Given the description of an element on the screen output the (x, y) to click on. 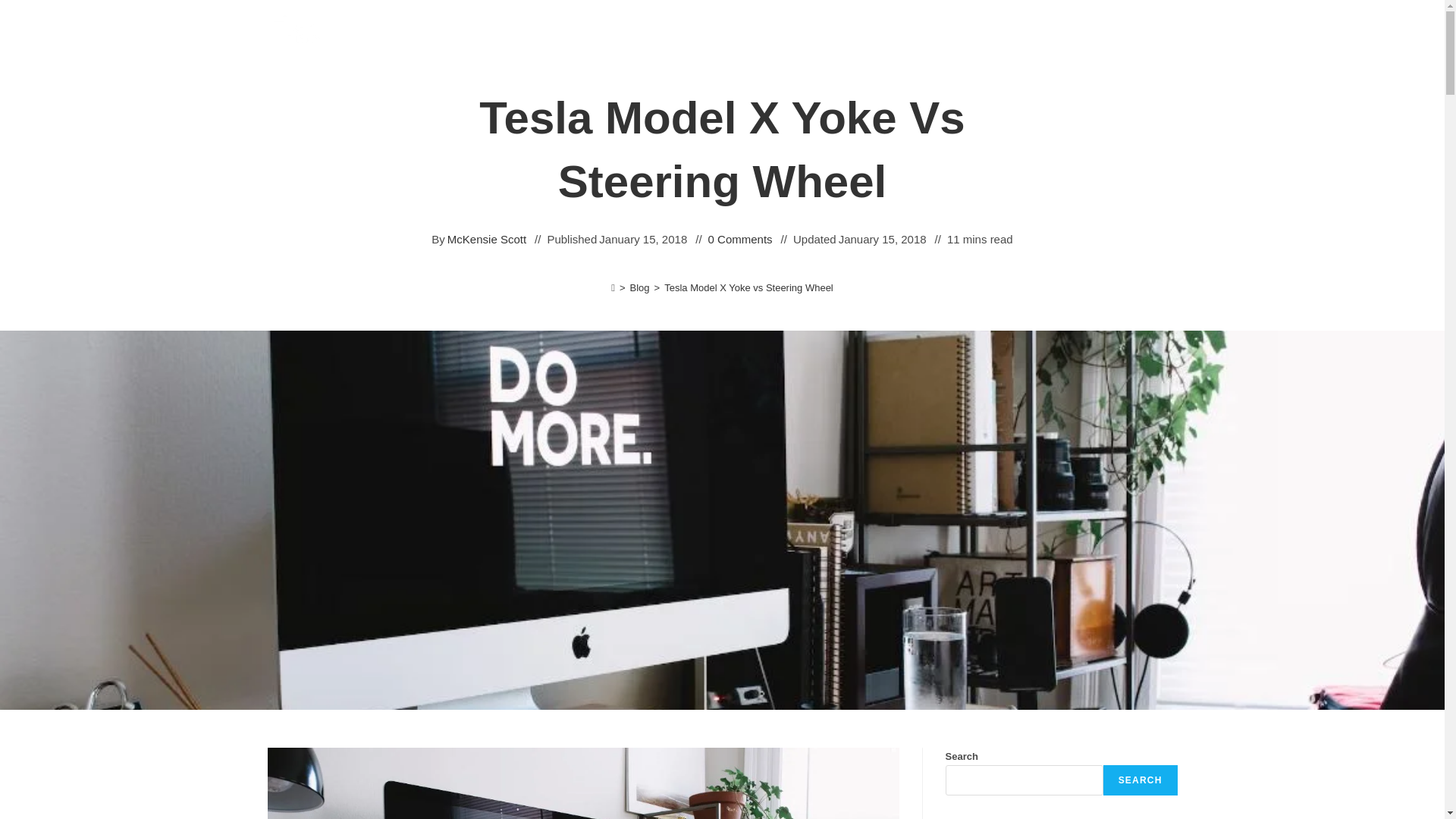
McKensie Scott (485, 239)
Tesla Model X Yoke vs Steering Wheel (747, 287)
Blog (639, 287)
0 Comments (740, 239)
